Given the description of an element on the screen output the (x, y) to click on. 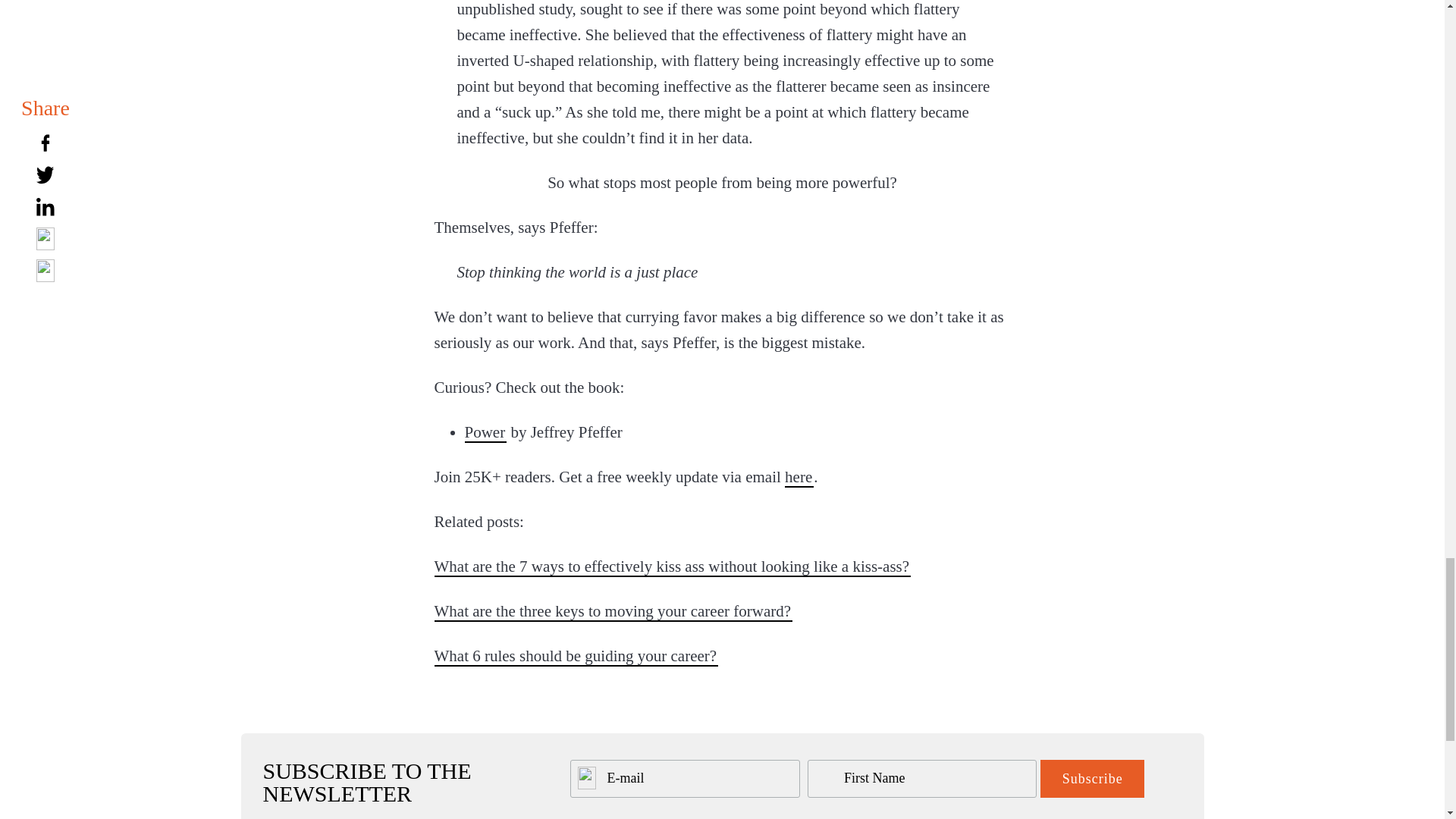
Permalink (575, 655)
What 6 rules should be guiding your career? (575, 655)
What are the three keys to moving your career forward? (612, 610)
Permalink (612, 610)
Subscribe (1092, 778)
Power (485, 432)
here (798, 476)
Subscribe (1092, 778)
